Given the description of an element on the screen output the (x, y) to click on. 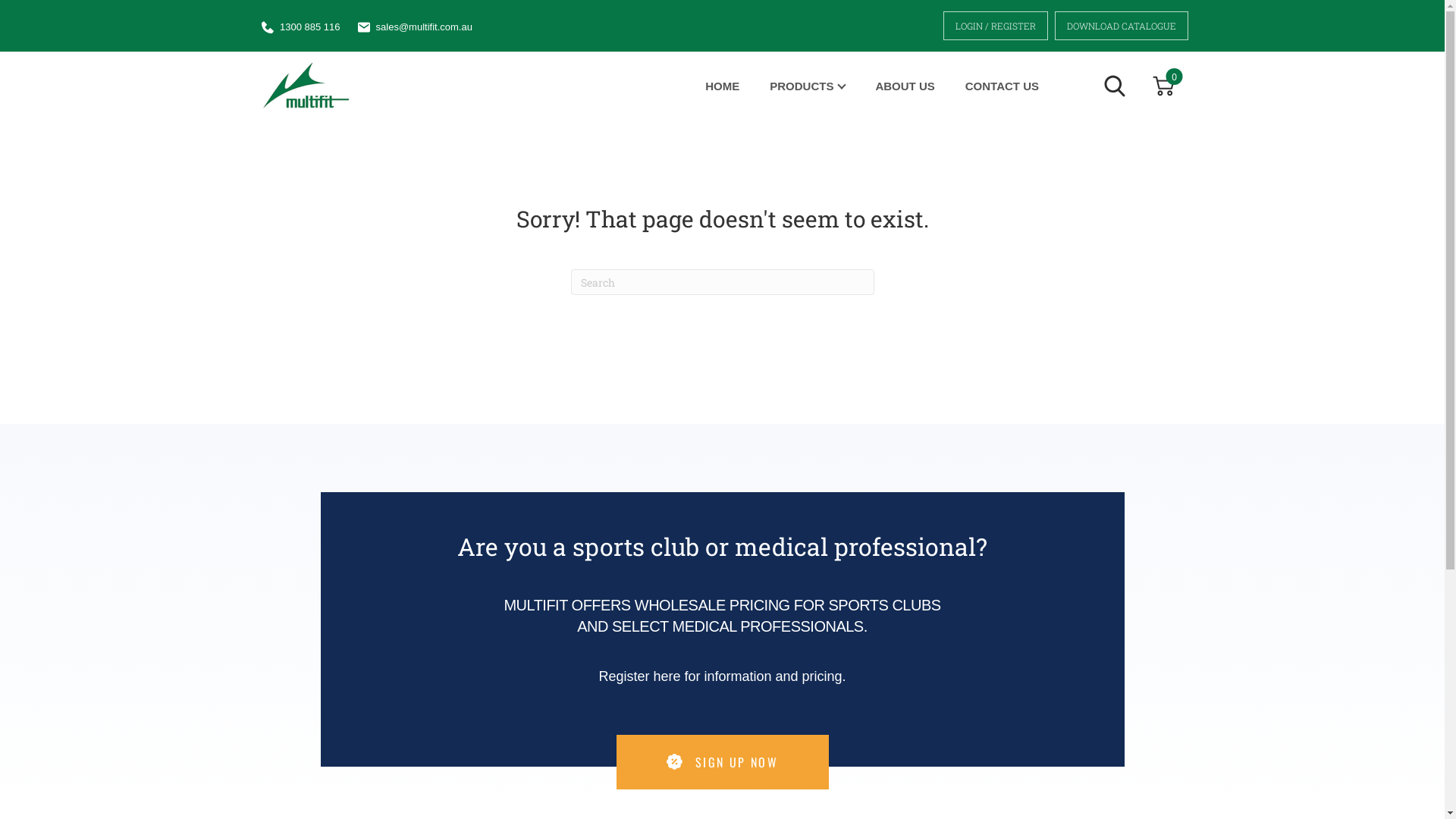
HOME Element type: text (722, 86)
SIGN UP NOW Element type: text (721, 761)
1300 885 116 Element type: text (309, 26)
sales@multifit.com.au Element type: text (424, 26)
LOGIN / REGISTER Element type: text (995, 25)
ABOUT US Element type: text (904, 86)
CONTACT US Element type: text (1002, 86)
PRODUCTS Element type: text (806, 86)
DOWNLOAD CATALOGUE Element type: text (1121, 25)
0 Element type: text (1163, 84)
Type and press Enter to search. Element type: hover (721, 281)
